Given the description of an element on the screen output the (x, y) to click on. 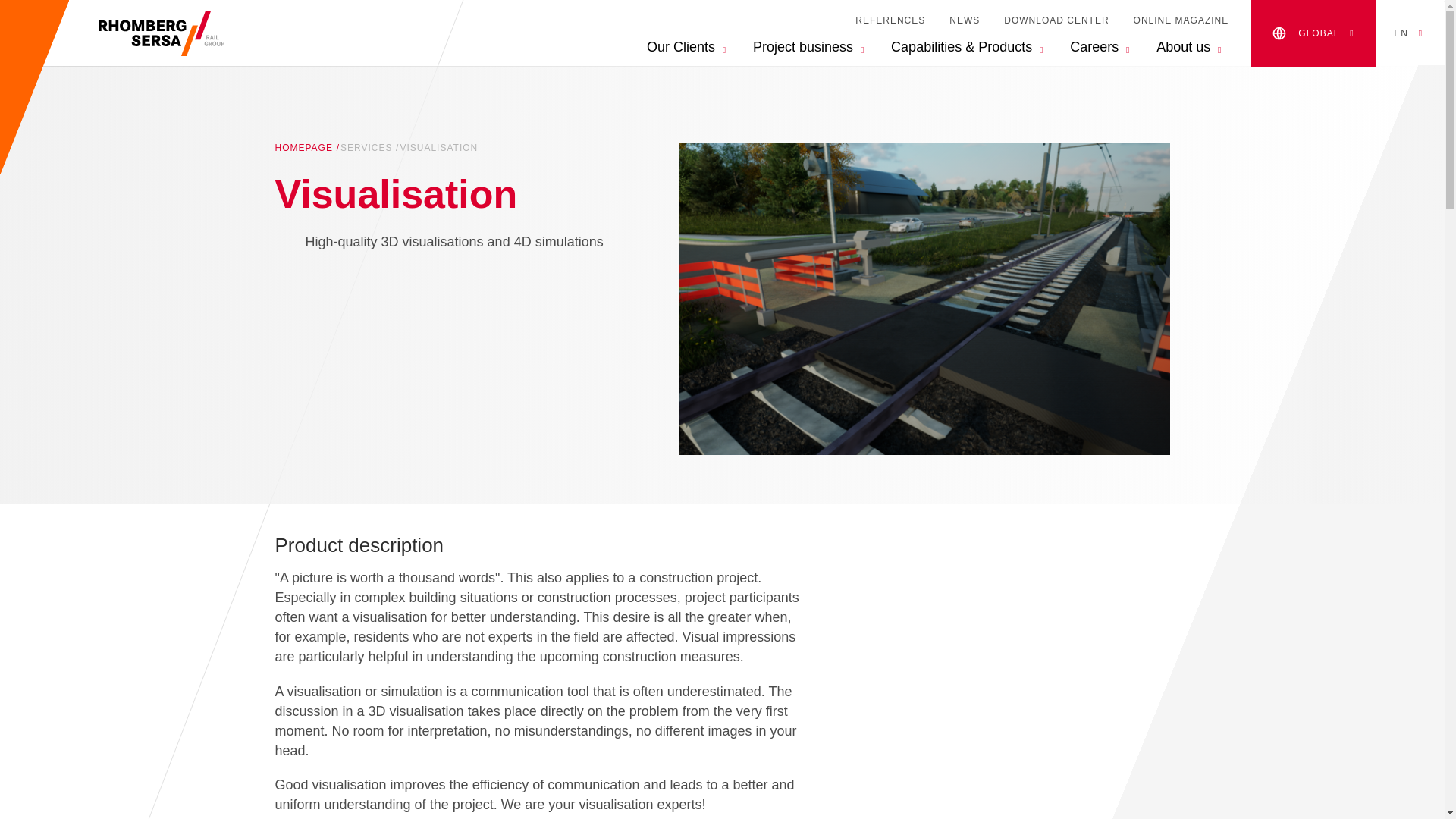
NEWS (964, 20)
ONLINE MAGAZINE (1181, 20)
REFERENCES (890, 20)
DOWNLOAD CENTER (1056, 20)
